Given the description of an element on the screen output the (x, y) to click on. 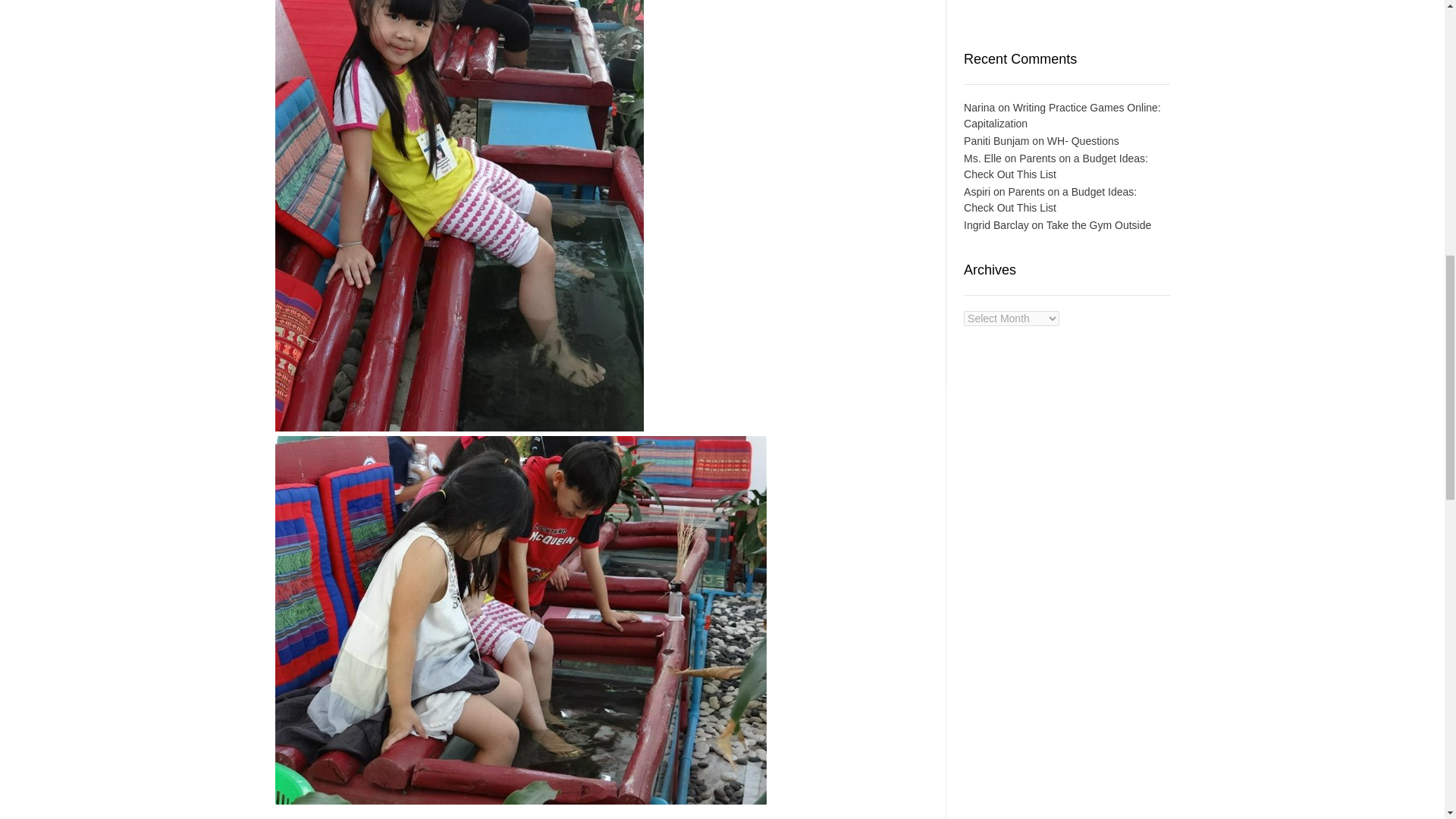
Ingrid Barclay (996, 224)
WH- Questions (1082, 141)
Ms. Elle (982, 158)
Writing Practice Games Online: Capitalization (1061, 115)
Aspiri (976, 191)
Paniti Bunjam (996, 141)
Parents on a Budget Ideas: Check Out This List (1055, 166)
Parents on a Budget Ideas: Check Out This List (1050, 199)
